Given the description of an element on the screen output the (x, y) to click on. 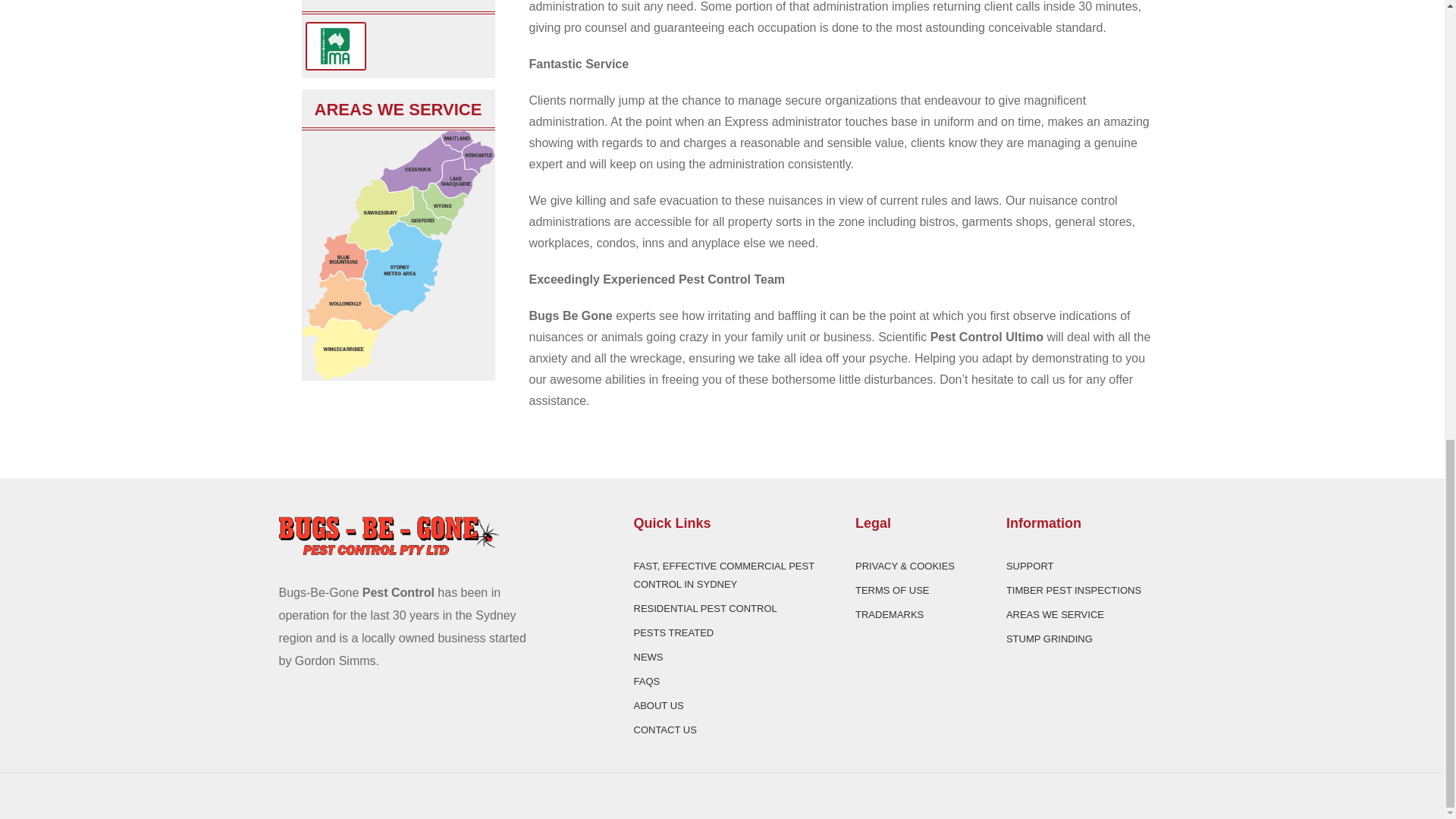
TIMBER PEST INSPECTIONS (1073, 590)
CONTACT US (665, 729)
STUMP GRINDING (1049, 638)
AREAS WE SERVICE (1054, 614)
ABOUT US (658, 705)
FAST, EFFECTIVE COMMERCIAL PEST CONTROL IN SYDNEY (723, 574)
TERMS OF USE (893, 590)
PESTS TREATED (673, 632)
FAQS (647, 681)
SUPPORT (1030, 565)
RESIDENTIAL PEST CONTROL (705, 608)
TRADEMARKS (889, 614)
NEWS (648, 656)
